Given the description of an element on the screen output the (x, y) to click on. 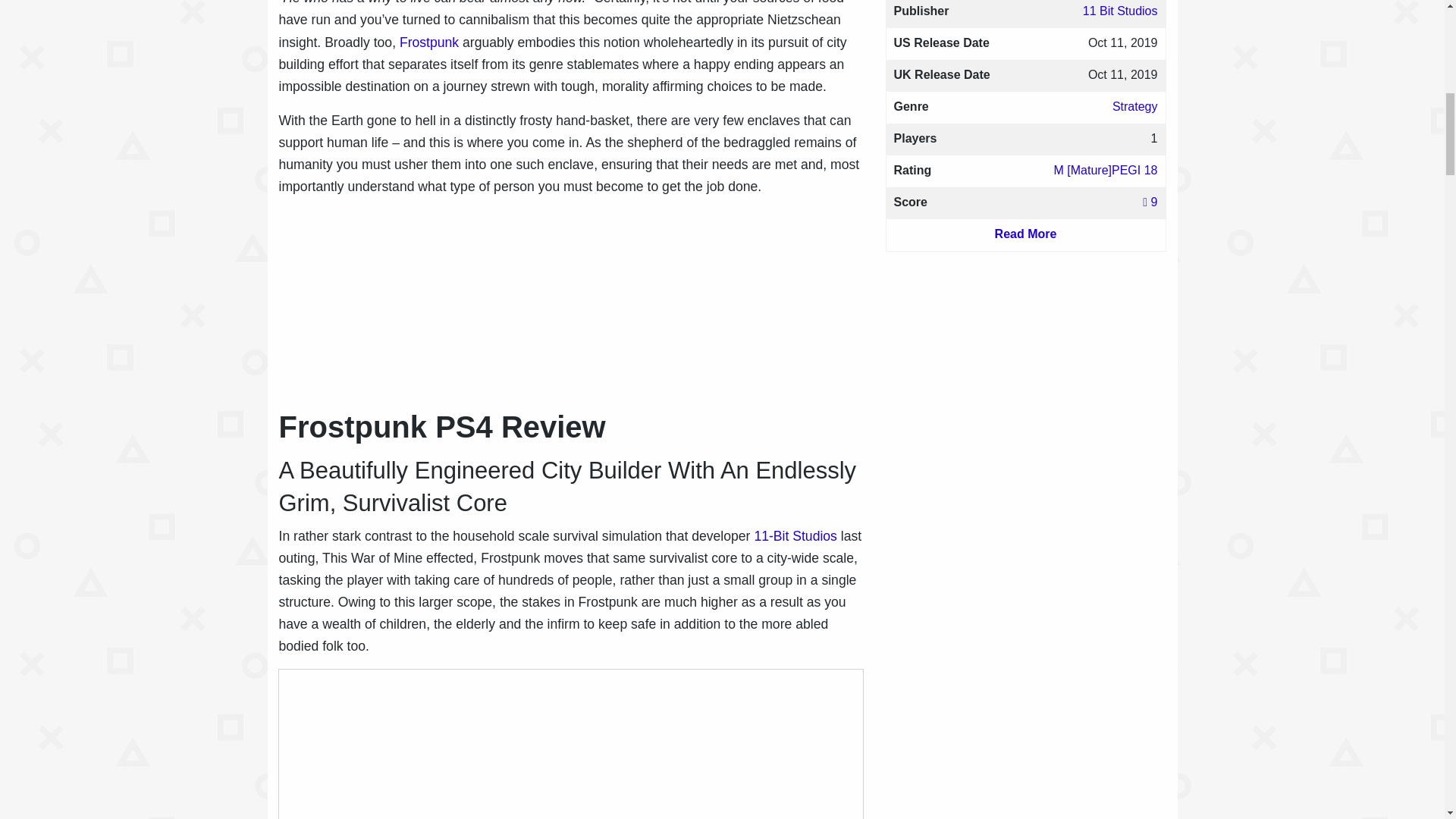
11-Bit Studios (795, 535)
Frostpunk (428, 42)
